Given the description of an element on the screen output the (x, y) to click on. 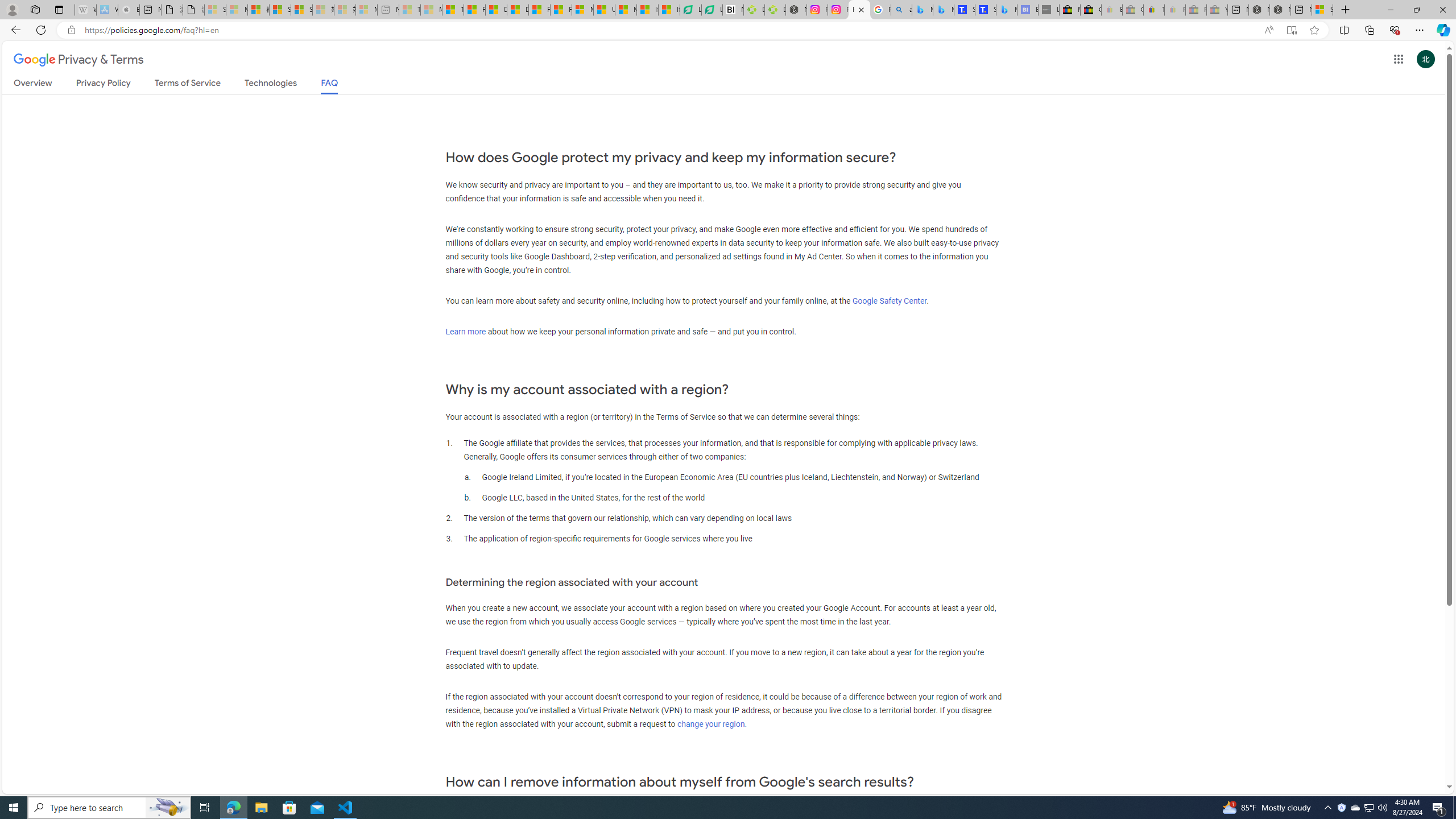
Microsoft Bing Travel - Shangri-La Hotel Bangkok (1006, 9)
Food and Drink - MSN (474, 9)
change your region. (711, 723)
Microsoft Services Agreement - Sleeping (236, 9)
Google Safety Center (889, 300)
Sign in to your Microsoft account (1322, 9)
Nvidia va a poner a prueba la paciencia de los inversores (732, 9)
Privacy & Terms (78, 60)
